Given the description of an element on the screen output the (x, y) to click on. 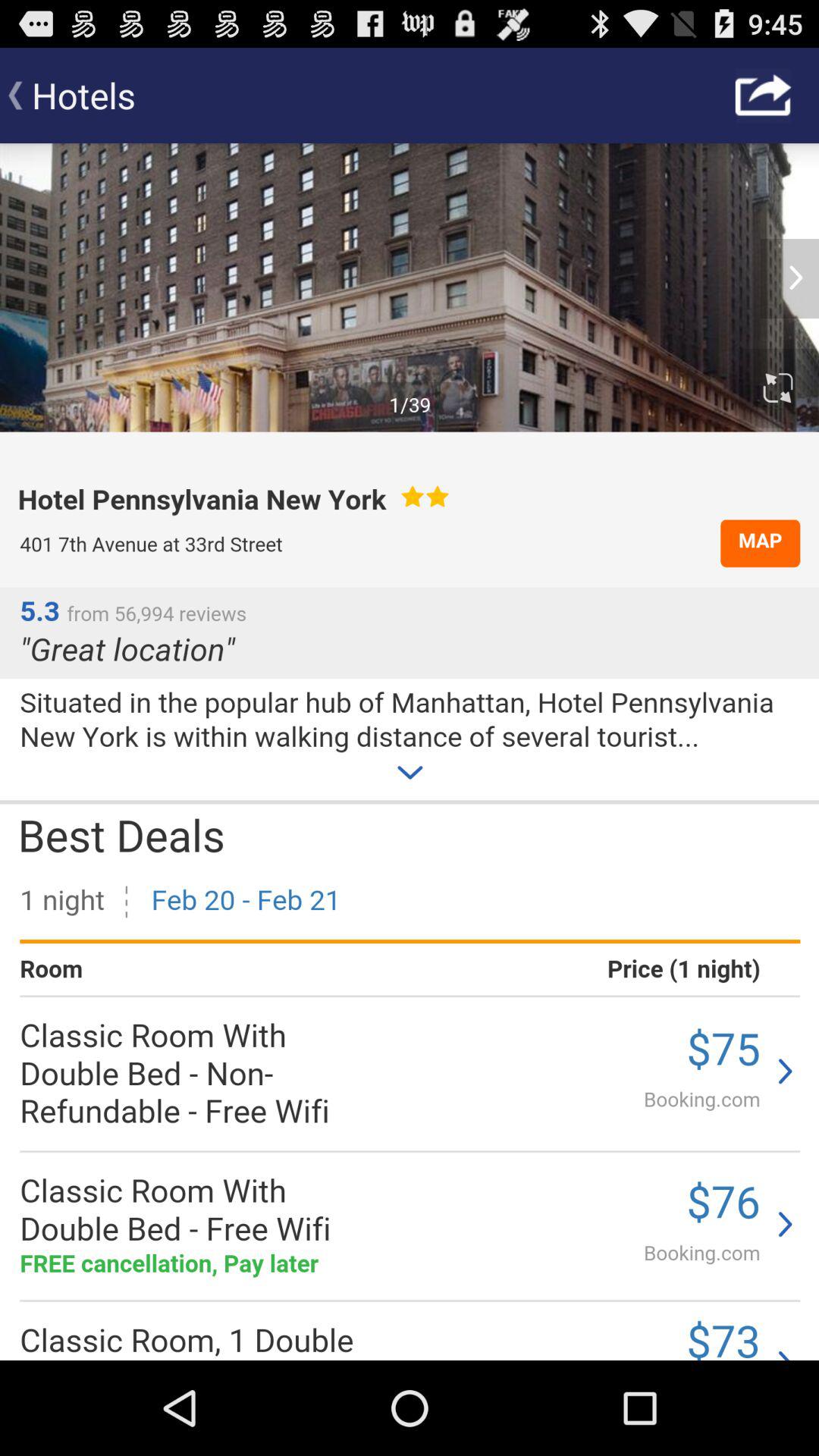
go to website (409, 751)
